Given the description of an element on the screen output the (x, y) to click on. 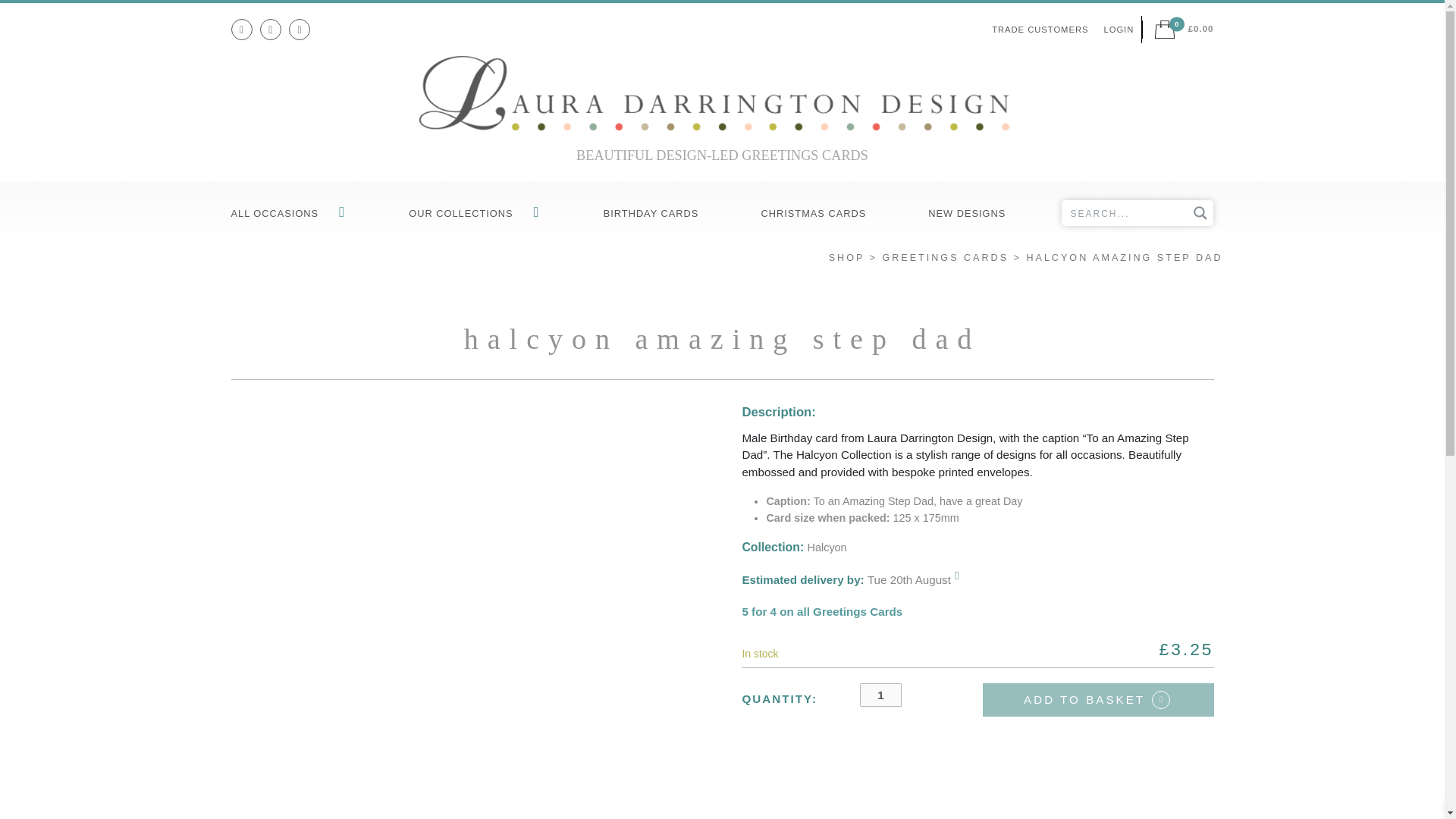
TRADE CUSTOMERS (1040, 29)
Royal Mail 1st Class Estimate (849, 579)
Qty (880, 694)
OUR COLLECTIONS (475, 213)
View your shopping cart (1183, 29)
1 (880, 694)
ALL OCCASIONS (291, 213)
LOGIN (1118, 29)
